Given the description of an element on the screen output the (x, y) to click on. 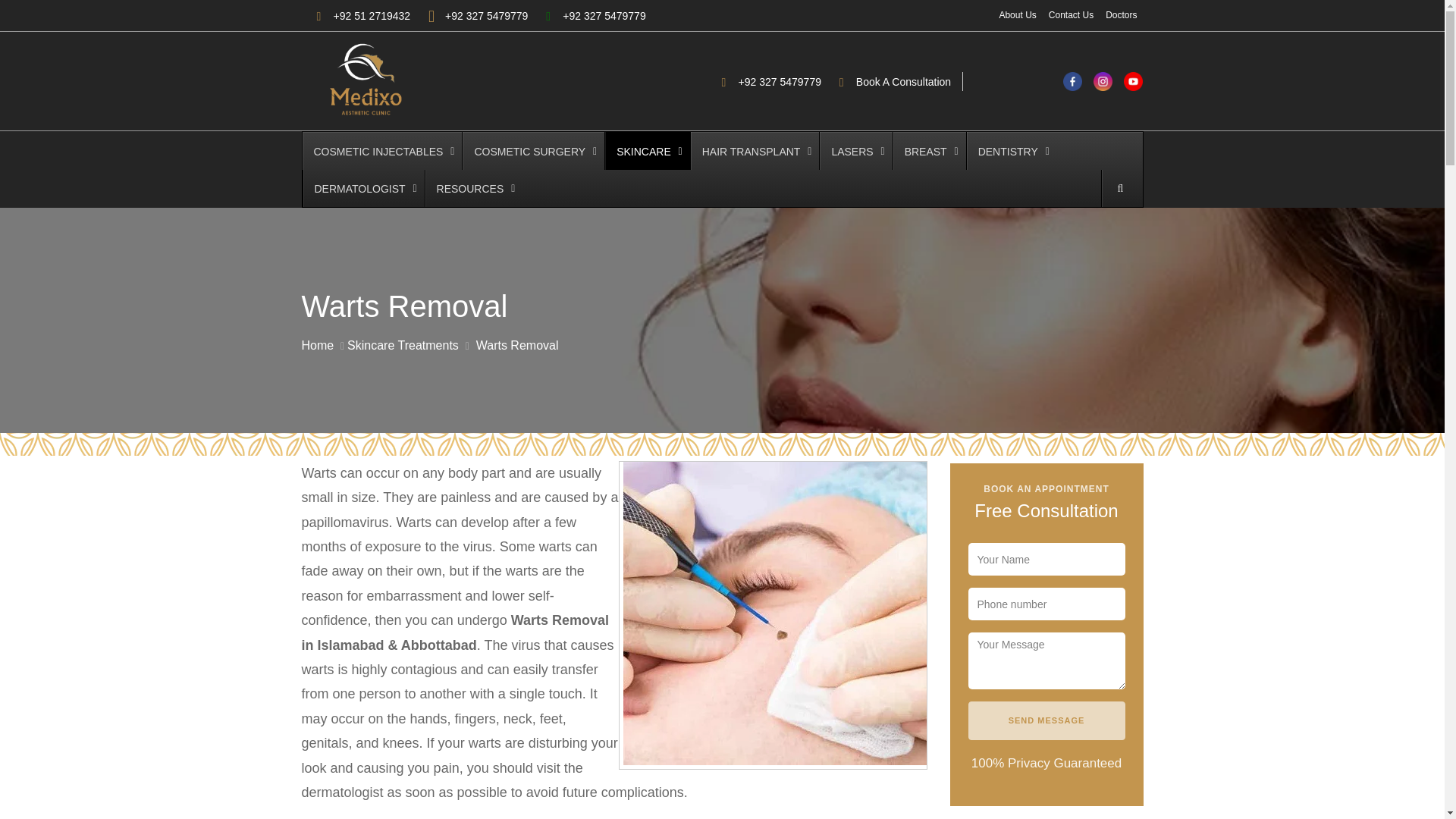
Send message (1046, 720)
Contact Us (1070, 14)
COSMETIC INJECTABLES (381, 149)
About Us (1016, 14)
Doctors (1121, 14)
Book A Consultation (890, 80)
COSMETIC SURGERY (532, 149)
